Given the description of an element on the screen output the (x, y) to click on. 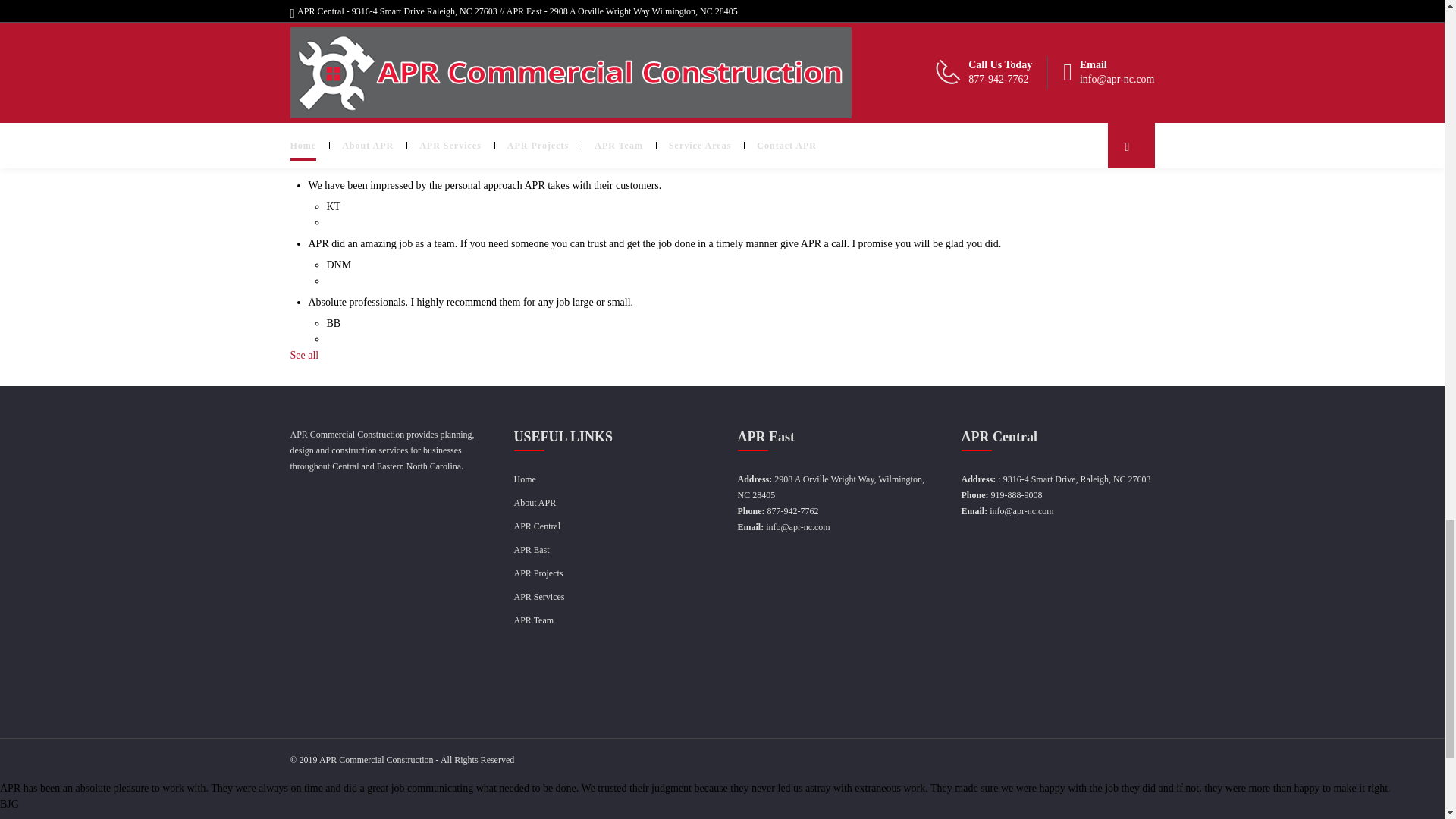
APR Team (533, 620)
APR Services (538, 596)
About APR (534, 502)
APR Central (536, 525)
APR Projects (538, 573)
919-888-9008 (1016, 494)
APR East (531, 549)
877-942-7762 (792, 511)
Home (524, 479)
See all (303, 355)
